Given the description of an element on the screen output the (x, y) to click on. 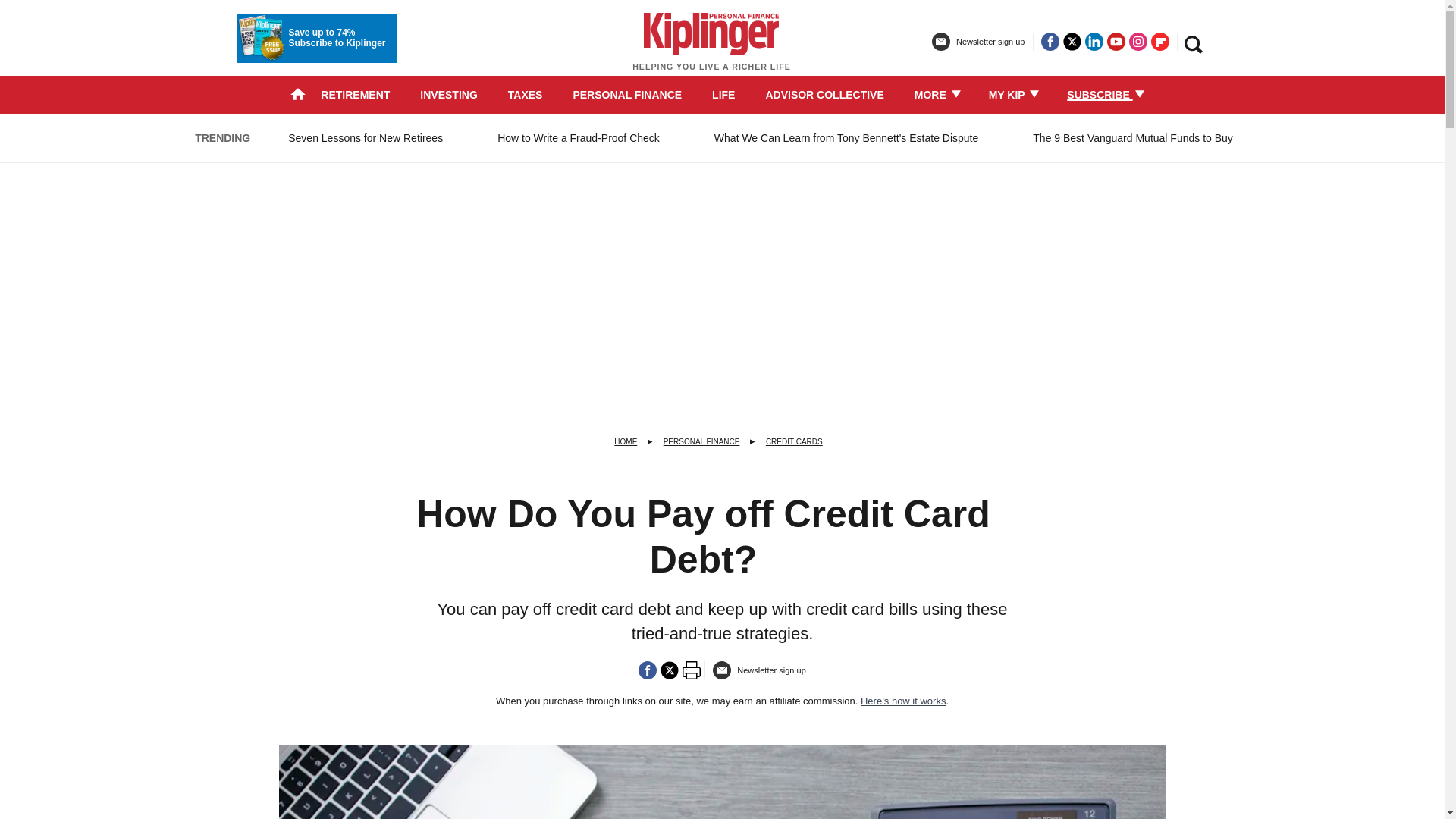
INVESTING (448, 94)
PERSONAL FINANCE (626, 94)
RETIREMENT (355, 94)
TAXES (525, 94)
HELPING YOU LIVE A RICHER LIFE (710, 48)
LIFE (723, 94)
